Given the description of an element on the screen output the (x, y) to click on. 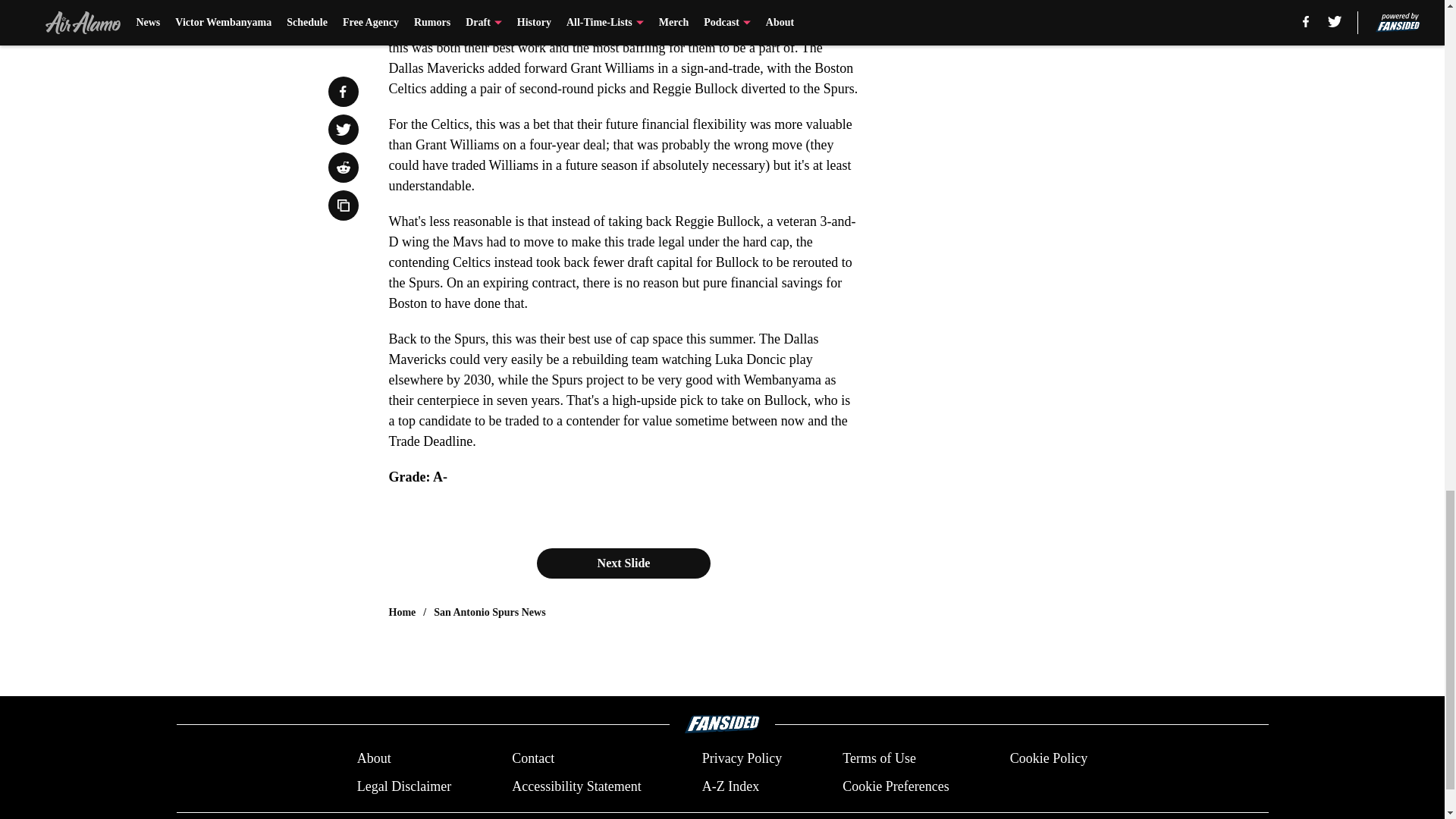
San Antonio Spurs News (488, 612)
Privacy Policy (742, 758)
Home (401, 612)
Next Slide (624, 562)
Contact (533, 758)
About (373, 758)
